Given the description of an element on the screen output the (x, y) to click on. 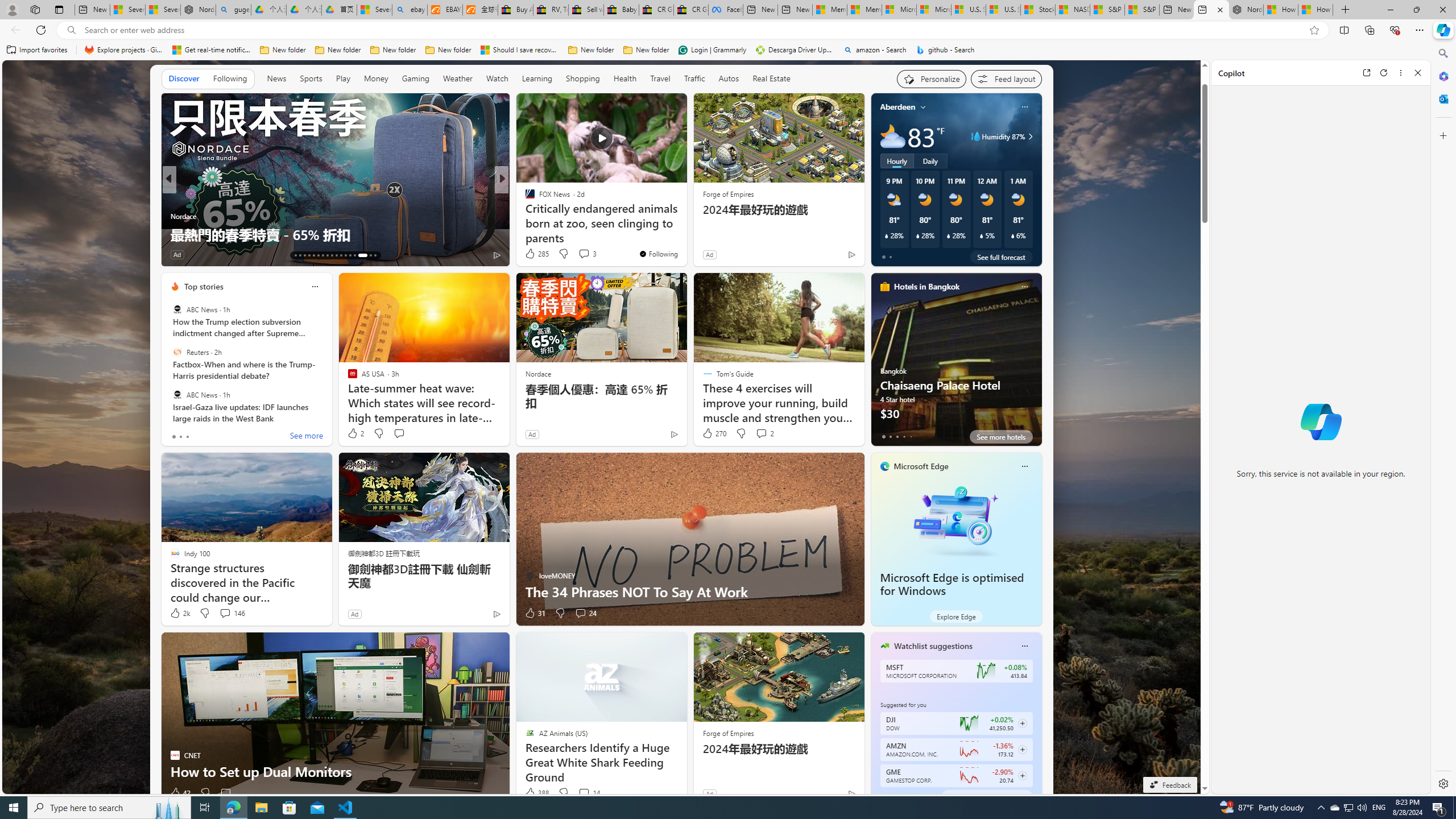
2 Like (355, 433)
AutomationID: backgroundImagePicture (601, 426)
See more (672, 106)
View comments 3 Comment (587, 253)
AutomationID: tab-19 (322, 255)
Favorites bar (715, 49)
Minimize (1390, 9)
Learning (537, 79)
Add this page to favorites (Ctrl+D) (1314, 29)
Personal Profile (12, 9)
Nordace - Summer Adventures 2024 (1246, 9)
AutomationID: tab-41 (366, 255)
View comments 6 Comment (233, 254)
Reuters (176, 352)
View comments 14 Comment (588, 792)
